Given the description of an element on the screen output the (x, y) to click on. 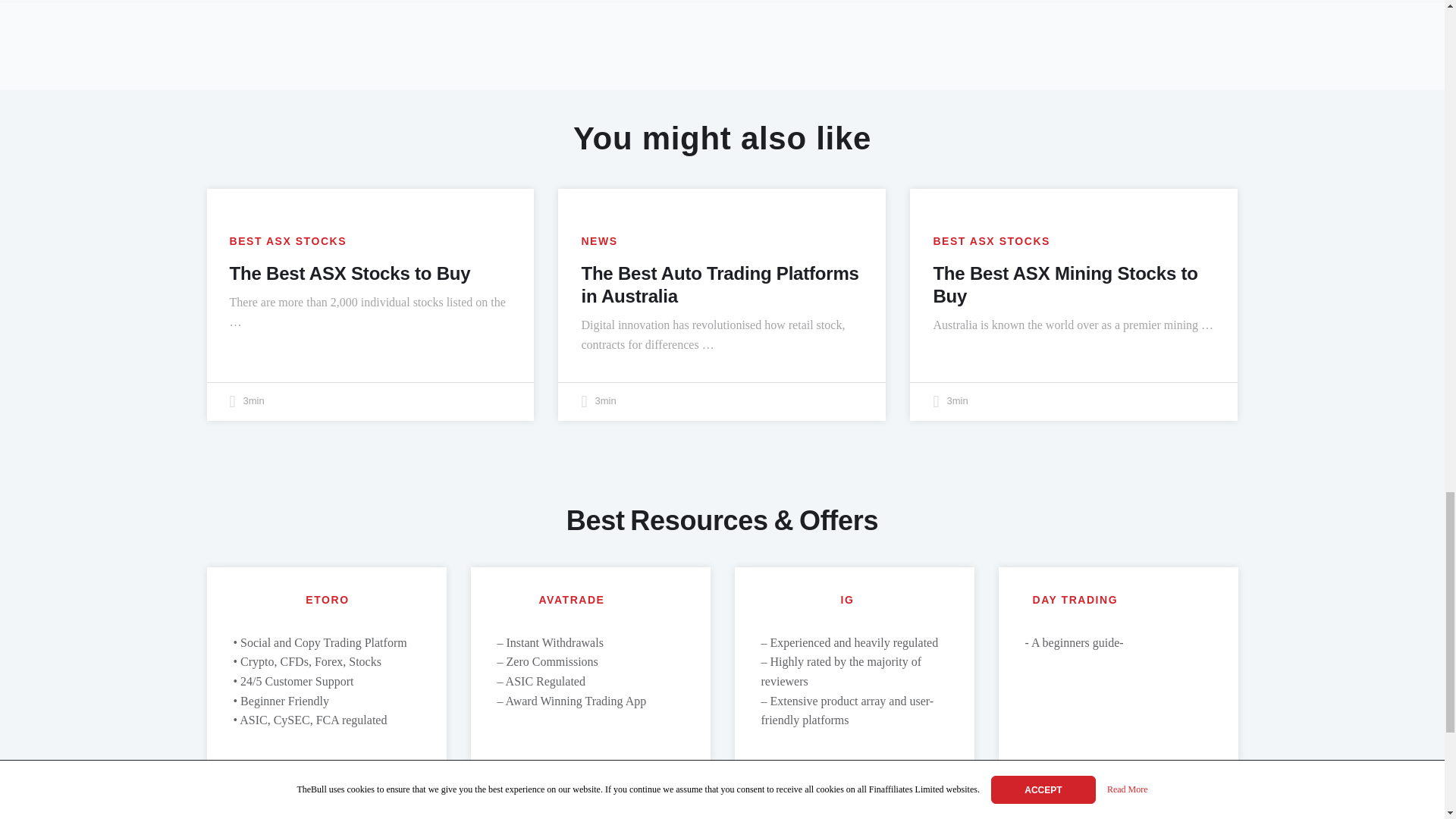
NEWS (598, 241)
BEST ASX STOCKS (287, 241)
The Best Auto Trading Platforms in Australia (719, 284)
The Best ASX Stocks to Buy (349, 272)
